Given the description of an element on the screen output the (x, y) to click on. 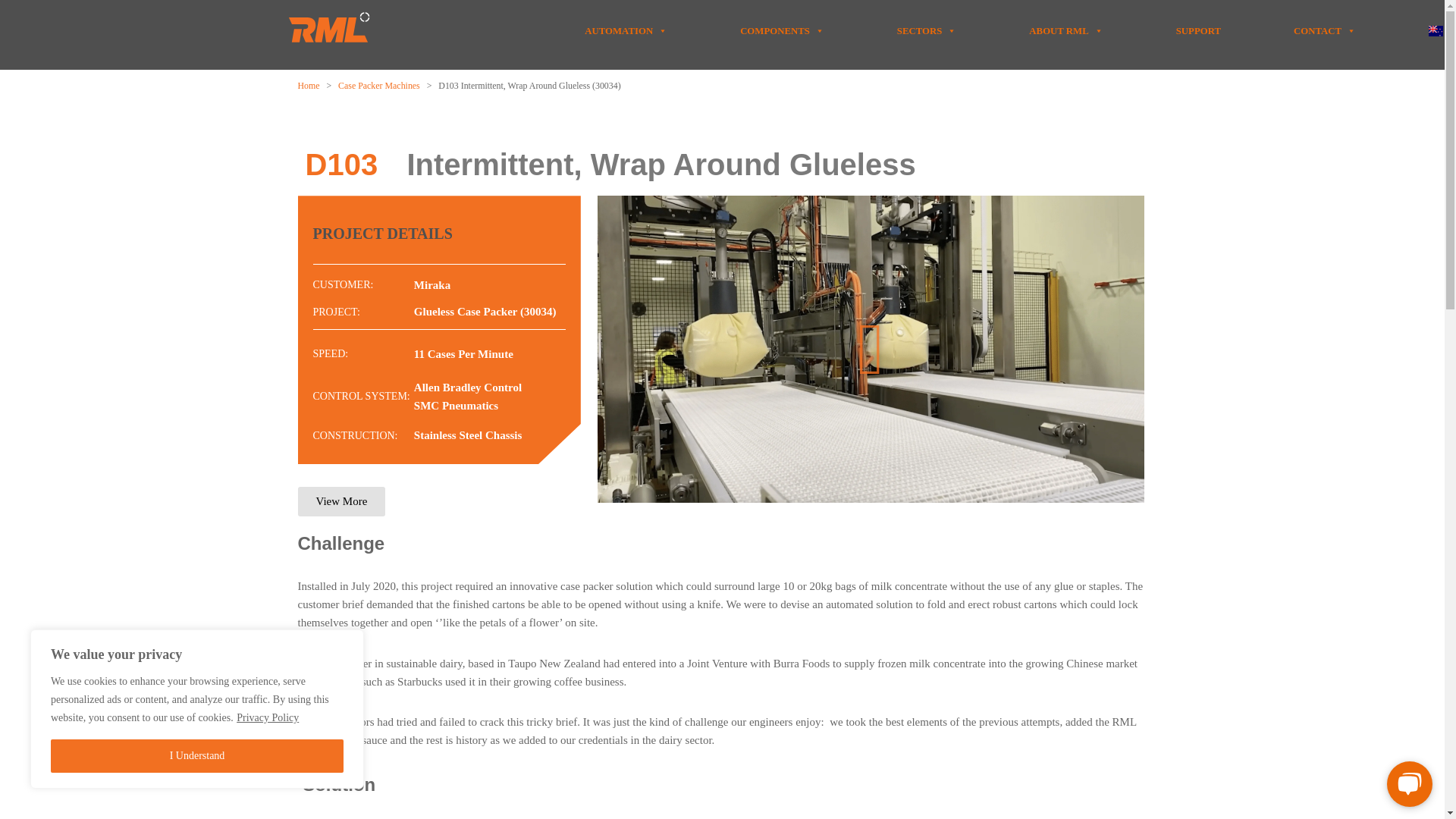
AUTOMATION (625, 30)
ABOUT RML (1065, 30)
Privacy Policy (267, 717)
SECTORS (926, 30)
Skip to content (11, 31)
COMPONENTS (781, 30)
I Understand (196, 756)
